Given the description of an element on the screen output the (x, y) to click on. 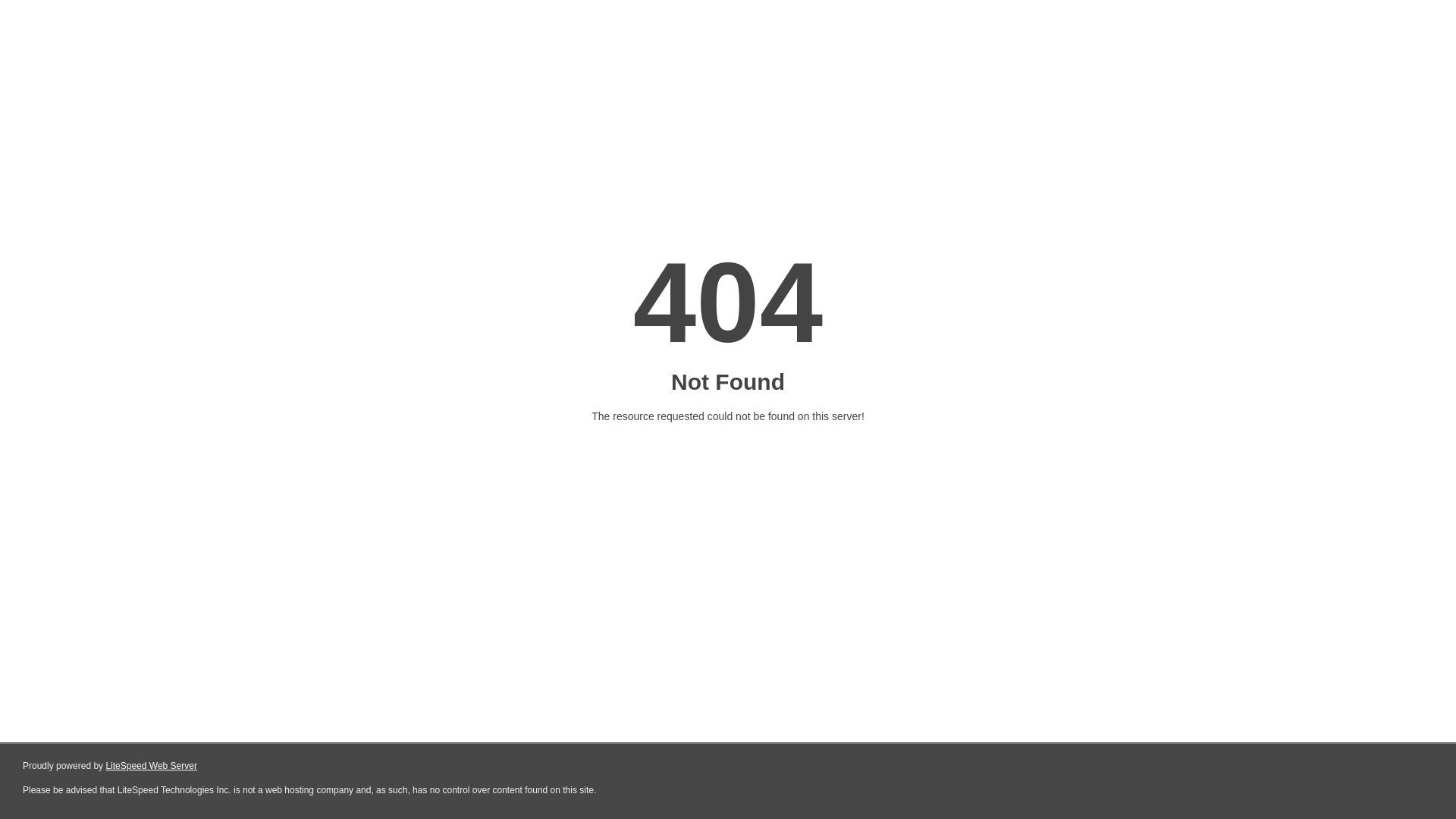
LiteSpeed Web Server Element type: text (151, 765)
